Given the description of an element on the screen output the (x, y) to click on. 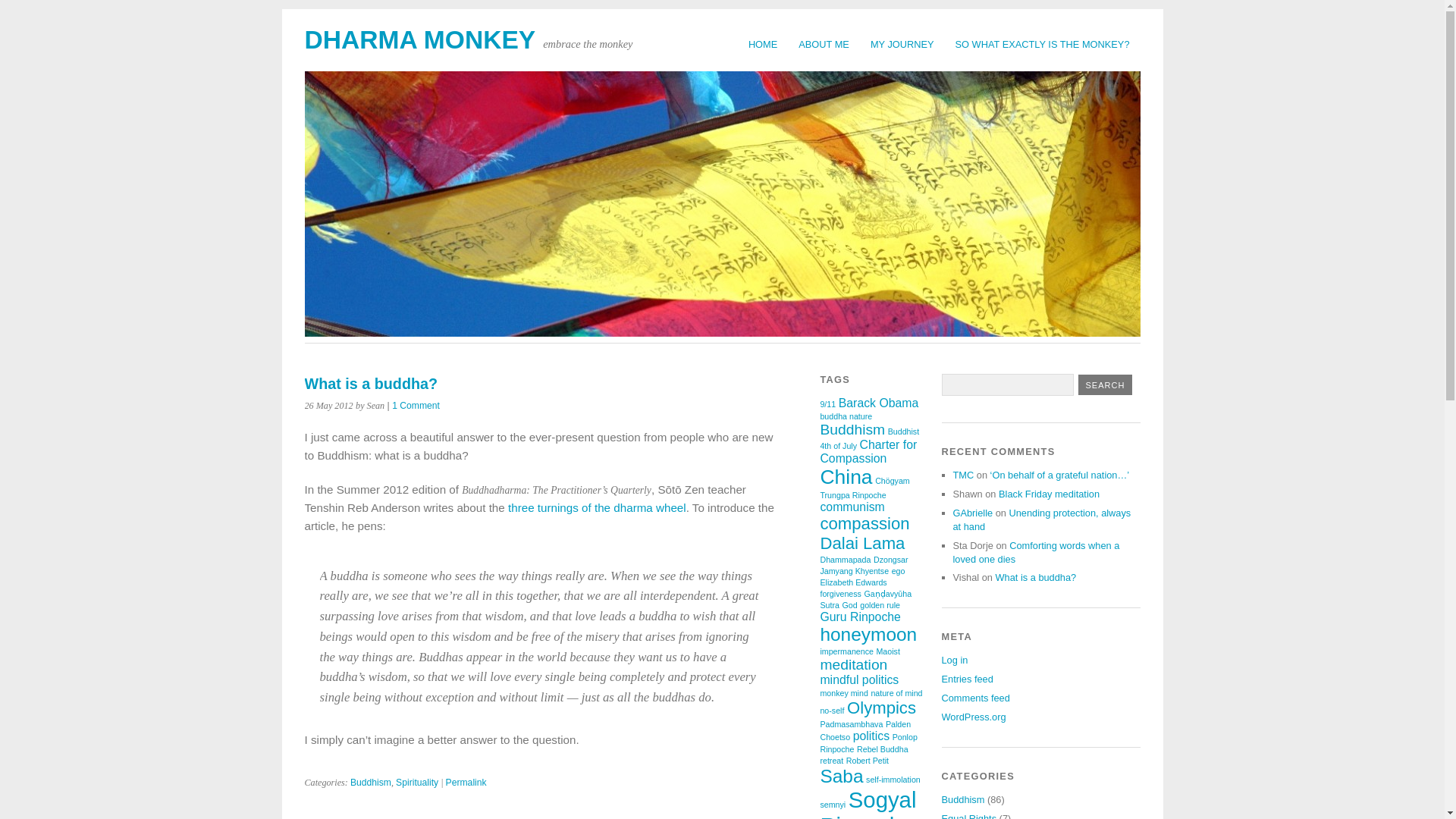
1 Comment (415, 405)
HOME (762, 43)
Spirituality (417, 782)
Charter for Compassion (868, 451)
Search (1105, 384)
impermanence (845, 651)
China (845, 477)
DHARMA MONKEY (419, 39)
MY JOURNEY (902, 43)
forgiveness (840, 593)
SO WHAT EXACTLY IS THE MONKEY? (1042, 43)
communism (851, 506)
Buddhist 4th of July (868, 438)
Buddhism (852, 429)
meditation (852, 664)
